Given the description of an element on the screen output the (x, y) to click on. 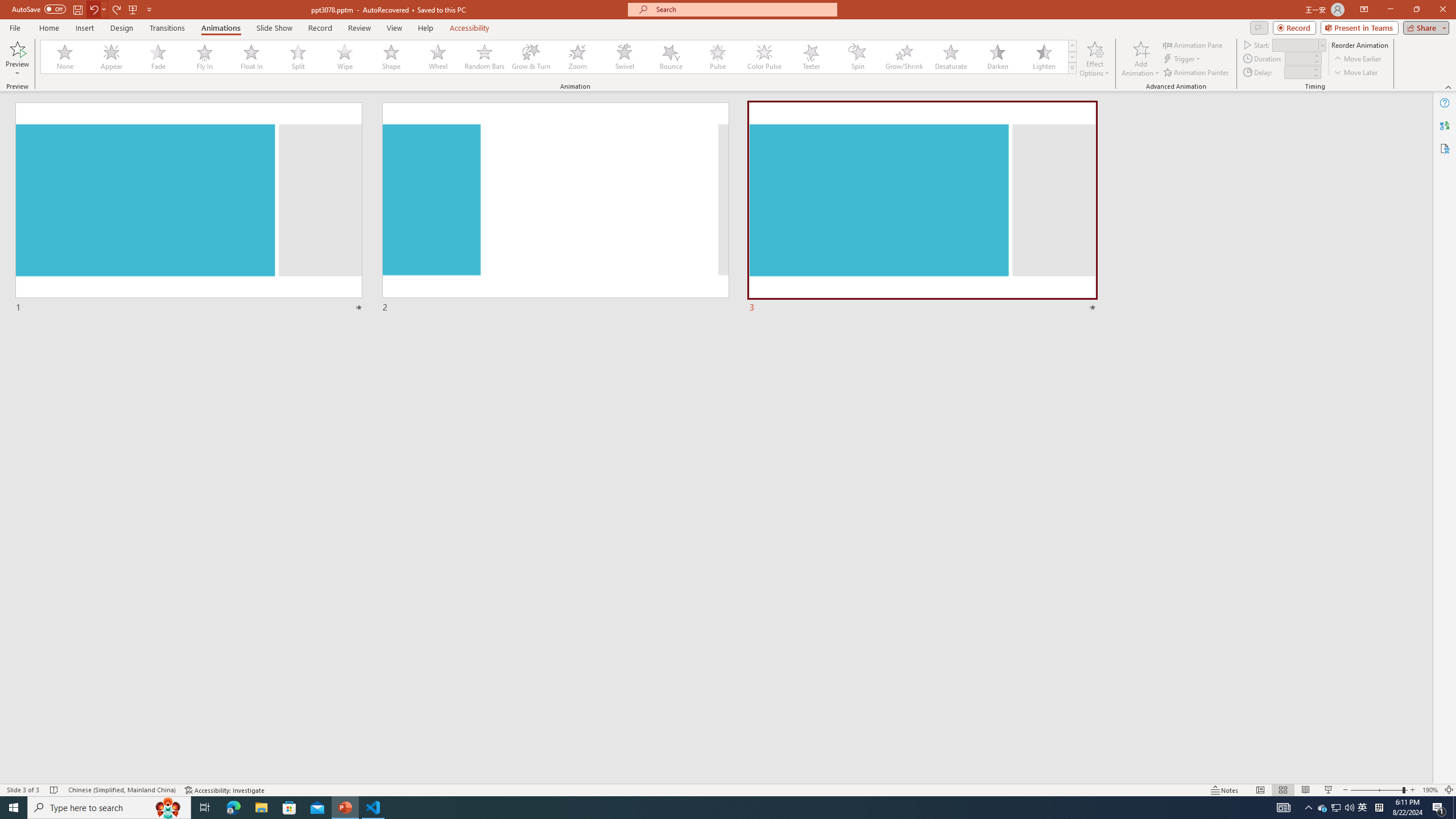
Grow/Shrink (903, 56)
Move Earlier (1357, 58)
Desaturate (950, 56)
Swivel (624, 56)
